Given the description of an element on the screen output the (x, y) to click on. 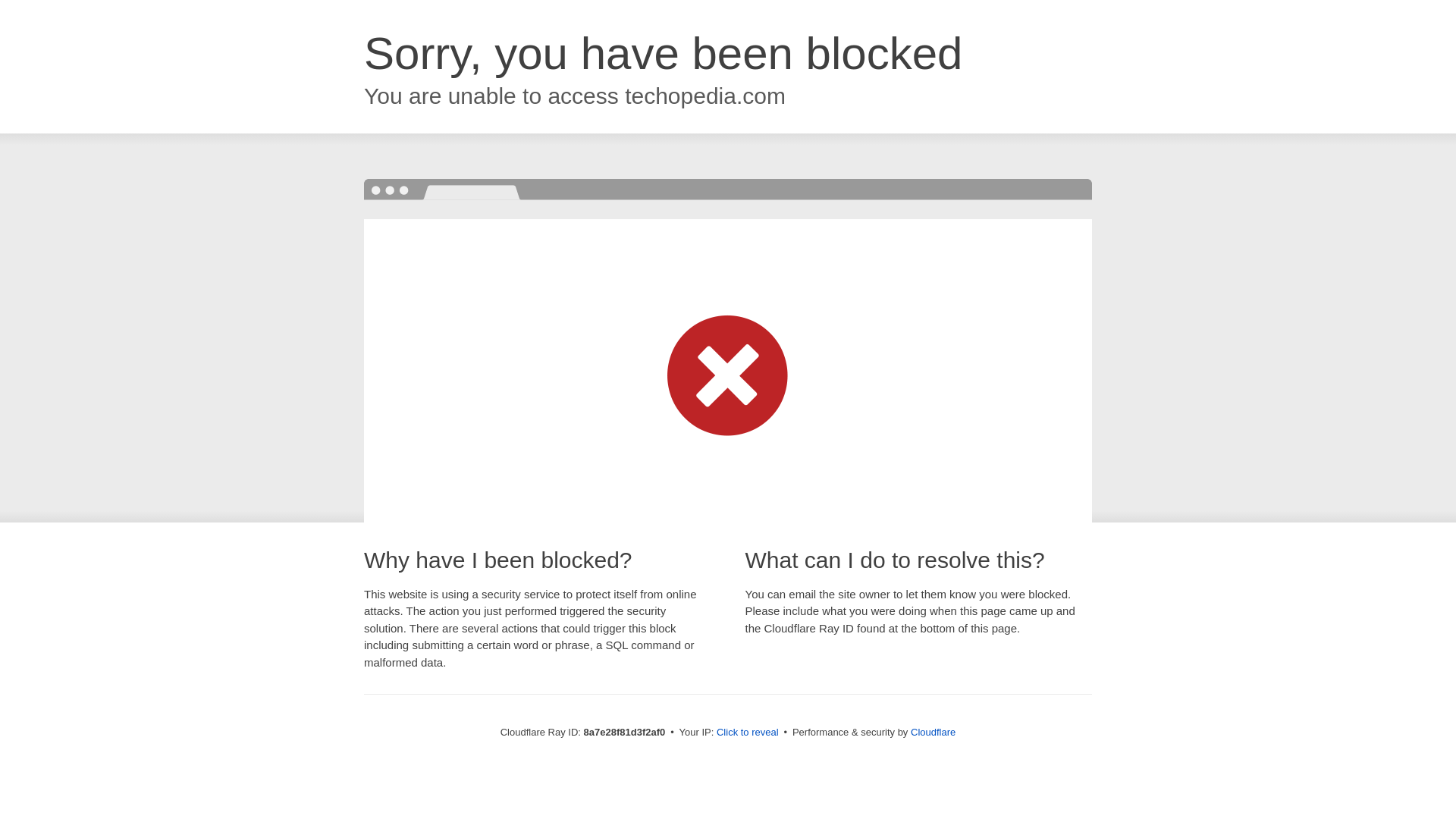
Cloudflare (933, 731)
Click to reveal (747, 732)
